Given the description of an element on the screen output the (x, y) to click on. 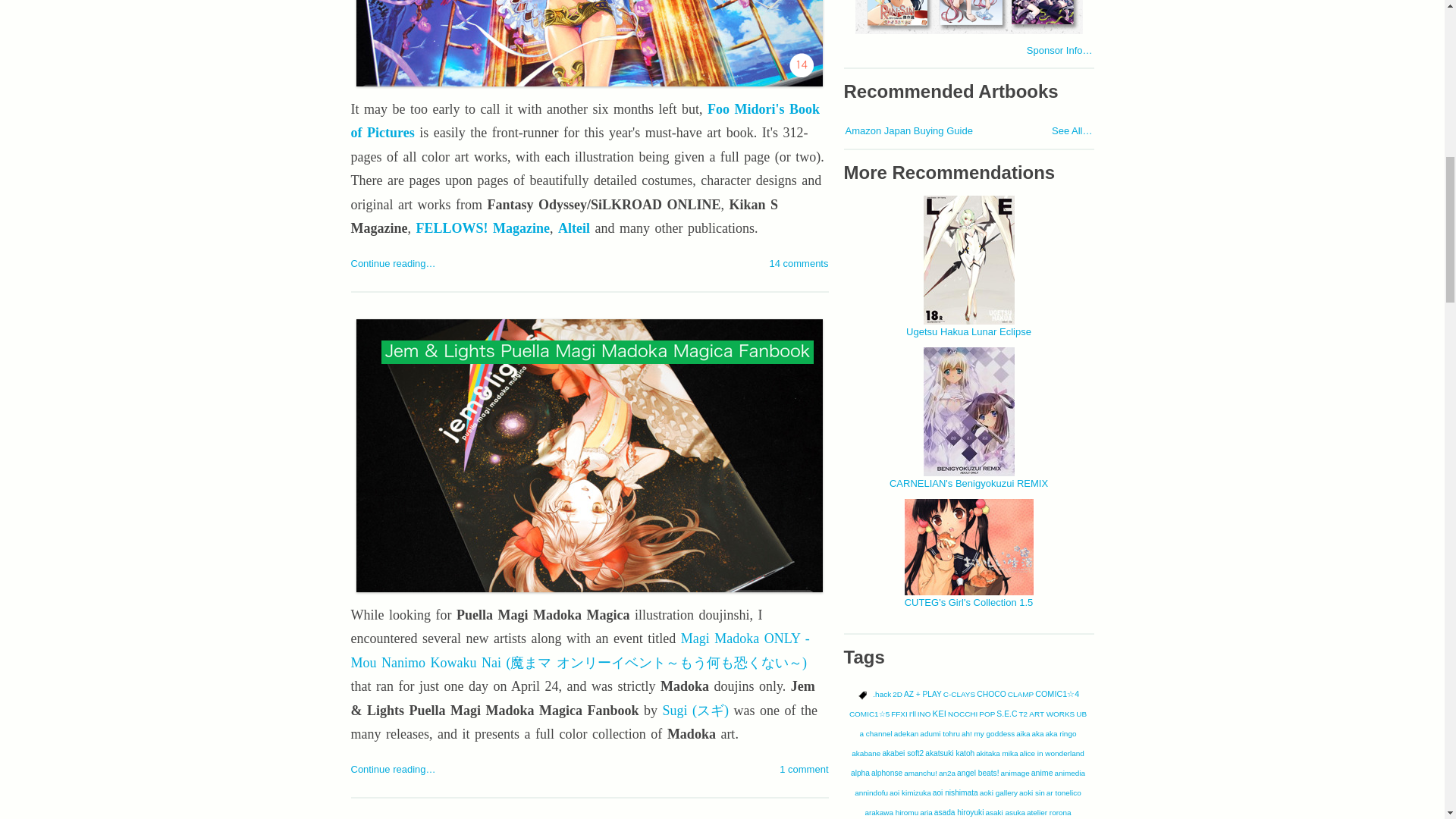
View comment (803, 768)
Alteil (573, 227)
FELLOWS! Magazine (482, 227)
14 comments (798, 263)
View comments (798, 263)
1 comment (803, 768)
Foo Midori's Book of Pictures (584, 120)
